Given the description of an element on the screen output the (x, y) to click on. 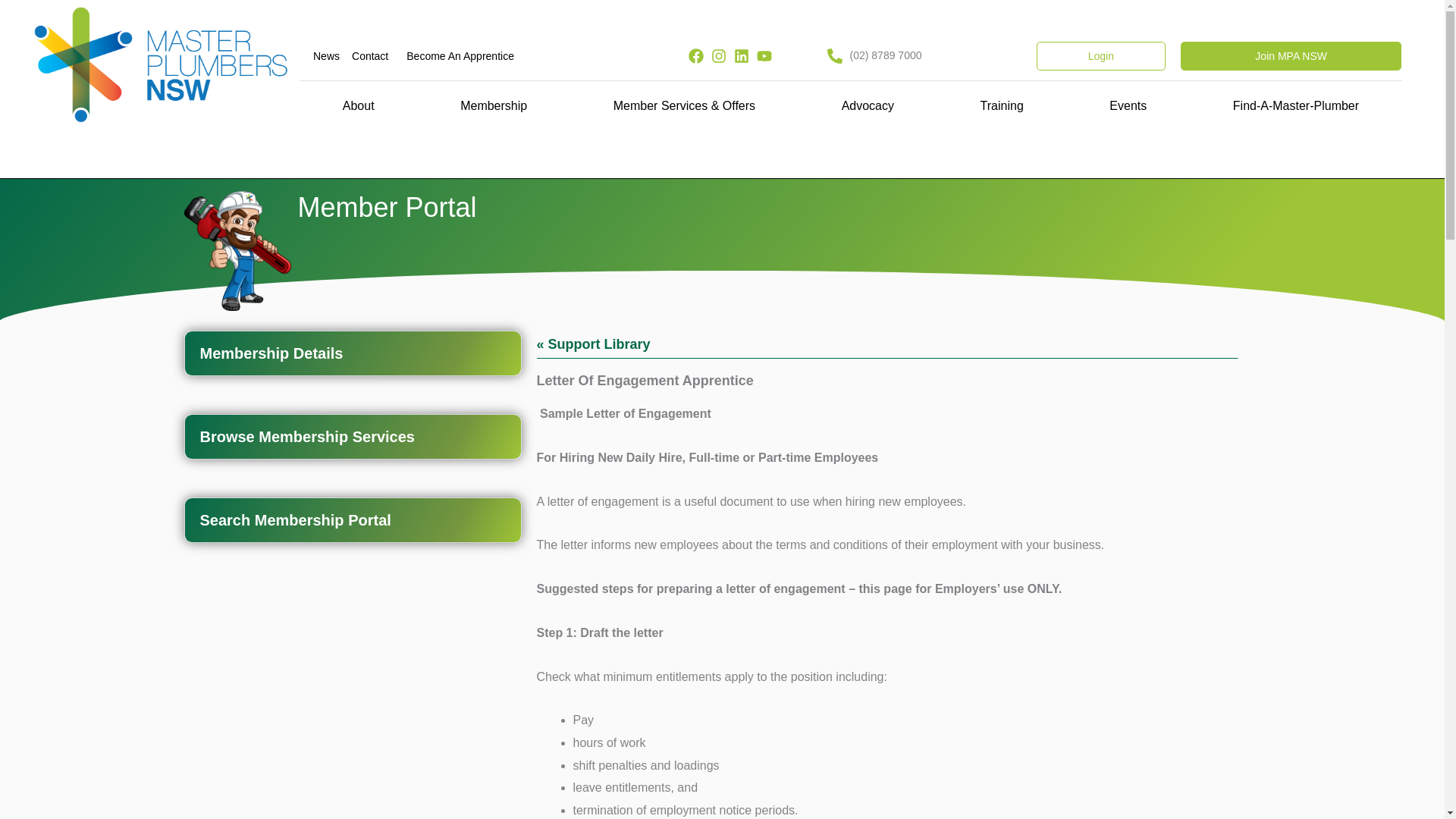
Join MPA NSW (1290, 55)
News (326, 55)
Become An Apprentice (459, 55)
Contact (370, 55)
Youtube (764, 55)
Membership (493, 105)
Linkedin (741, 55)
About (357, 105)
Instagram (718, 55)
Facebook (695, 55)
Login (1101, 55)
